Given the description of an element on the screen output the (x, y) to click on. 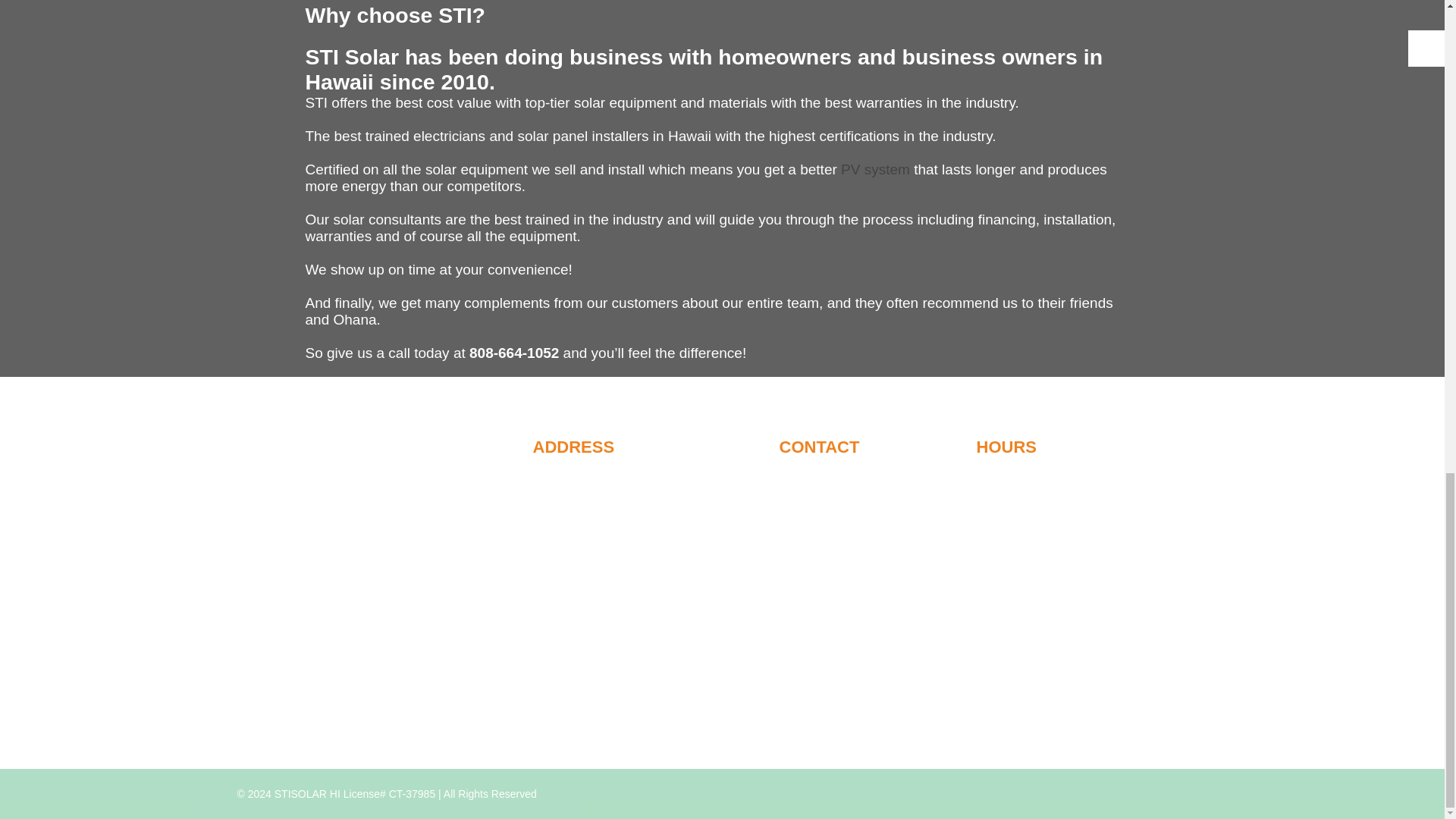
Oahu: 1833 Kalakaua Avenue, Suite 406 Honolulu, HI 96815 (635, 481)
P: 808-664-1052 (821, 474)
Kauai: 3-2600 Kaumuali'i Hwy Ste 1300, Lihue HI 96766 (633, 511)
solar pv hawaii (875, 169)
PV system (875, 169)
